Given the description of an element on the screen output the (x, y) to click on. 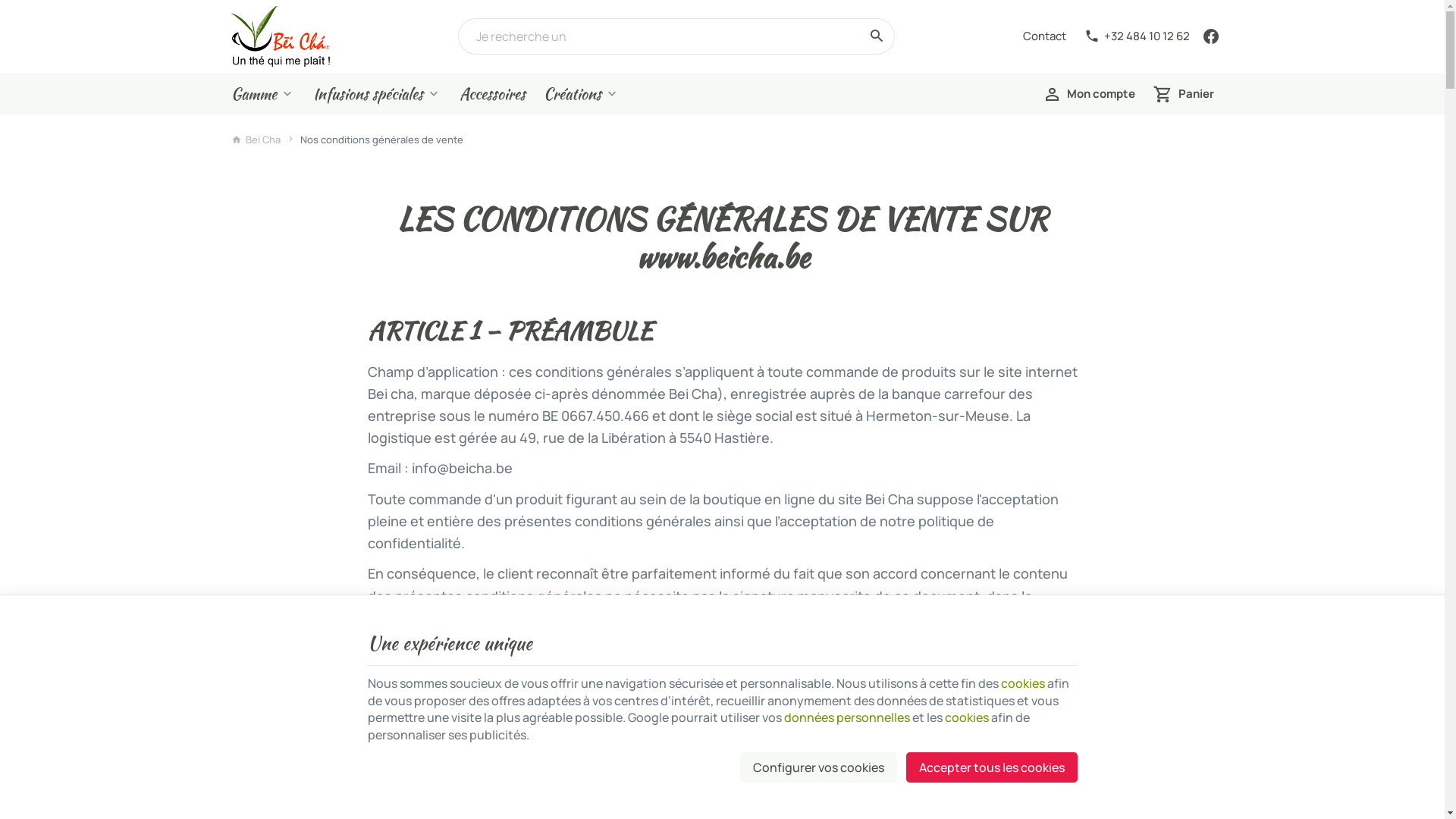
Accepter tous les cookies Element type: text (990, 767)
Panier Element type: text (1183, 93)
Bei Cha Element type: hover (279, 36)
Mon compte Element type: text (1088, 93)
Contact Element type: text (1043, 36)
Bei Cha Element type: text (255, 139)
cookies Element type: text (966, 717)
Bei Cha Element type: hover (279, 36)
cookies Element type: text (1022, 682)
+32 484 10 12 62 Element type: text (1136, 36)
Gamme Element type: text (262, 93)
Configurer vos cookies Element type: text (818, 767)
Accessoires Element type: text (492, 93)
